Given the description of an element on the screen output the (x, y) to click on. 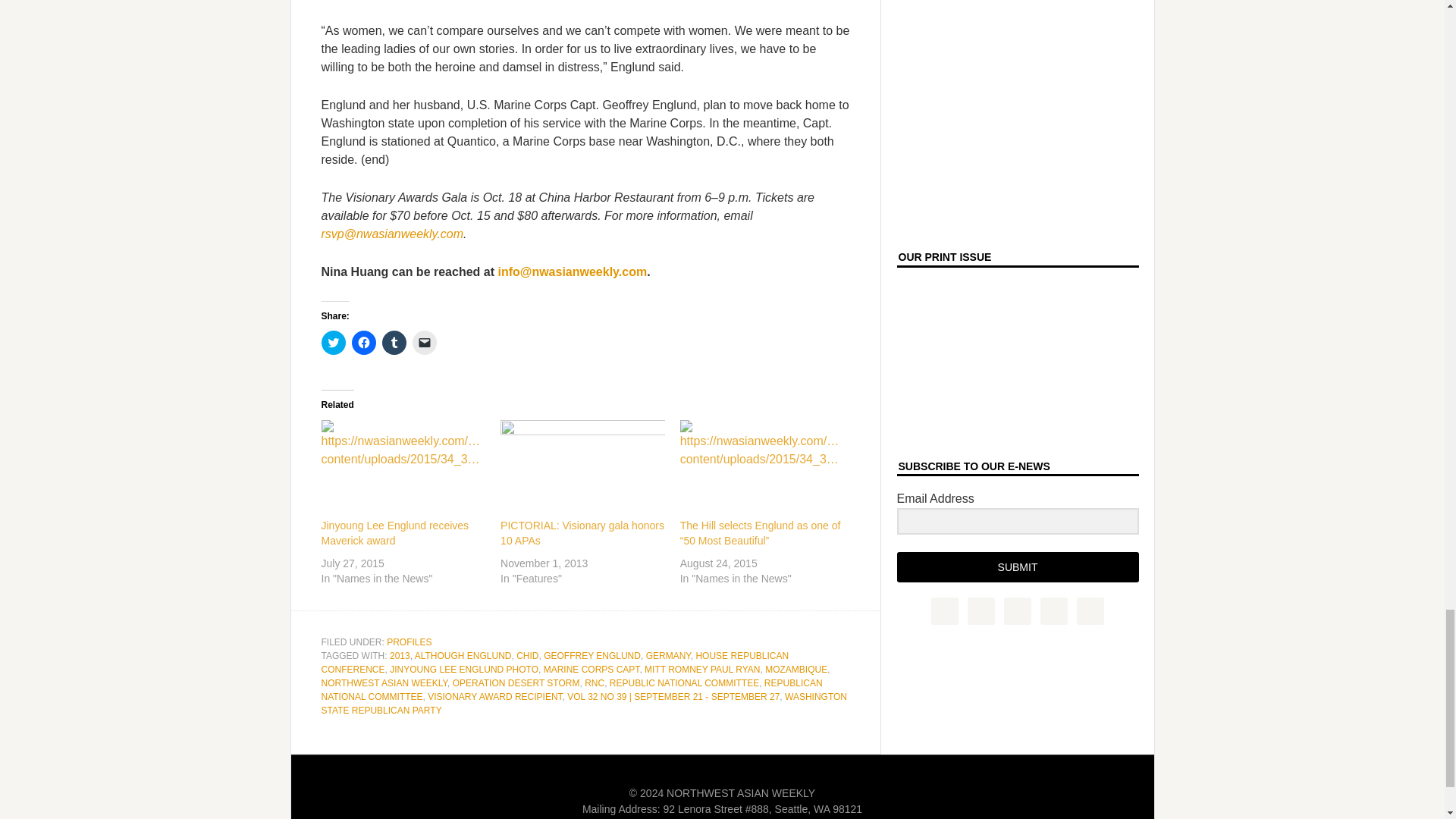
Click to share on Facebook (363, 342)
Jinyoung Lee Englund receives Maverick award (403, 467)
PICTORIAL: Visionary gala honors 10 APAs (582, 467)
Jinyoung Lee Englund receives Maverick award (394, 533)
Click to share on Tumblr (393, 342)
Click to share on Twitter (333, 342)
PICTORIAL: Visionary gala honors 10 APAs (581, 533)
Click to email a link to a friend (424, 342)
